Given the description of an element on the screen output the (x, y) to click on. 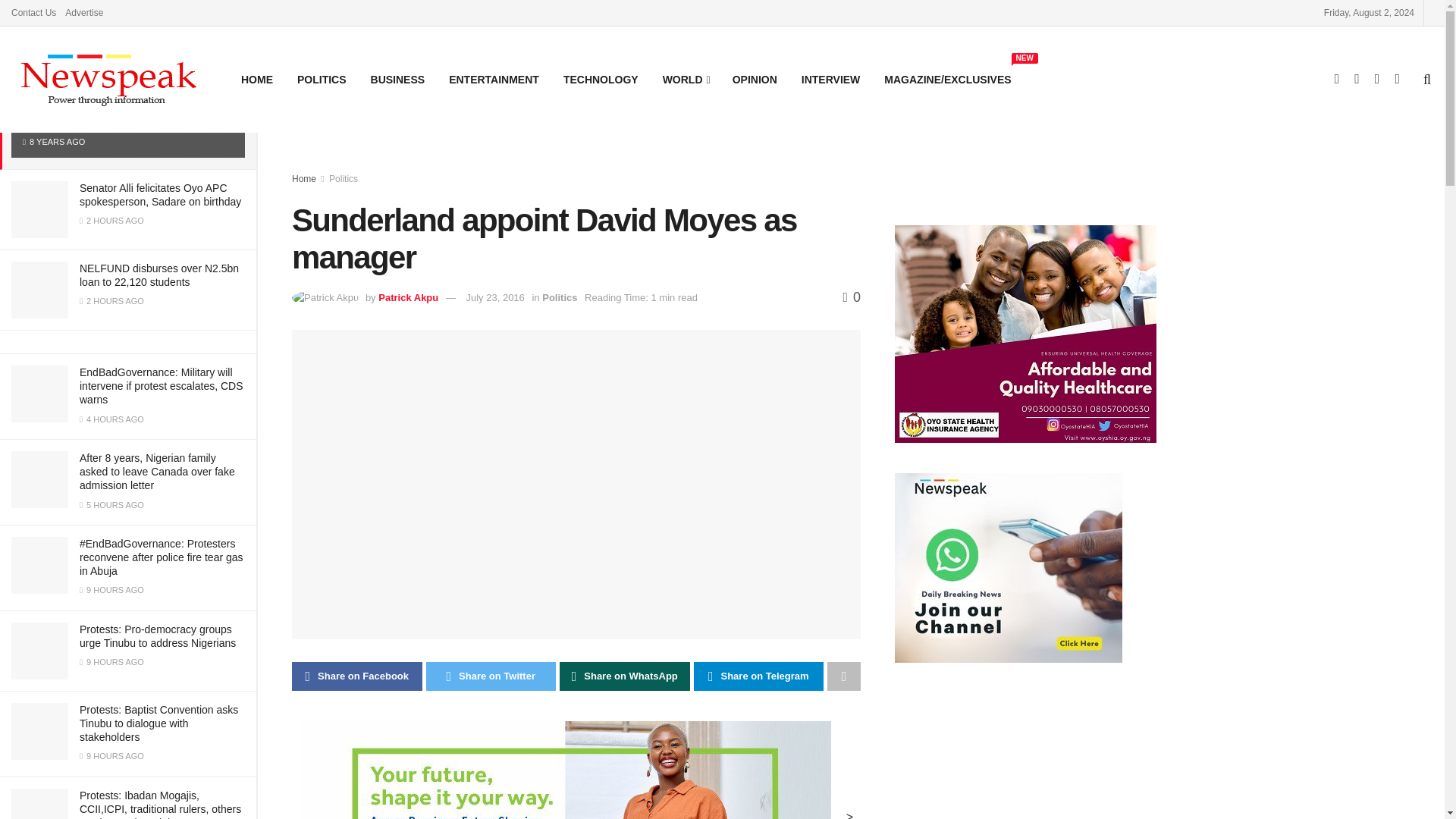
Contact Us (33, 12)
NELFUND disburses over N2.5bn loan to 22,120 students (159, 275)
Sunderland appoint David Moyes as manager (122, 111)
